Given the description of an element on the screen output the (x, y) to click on. 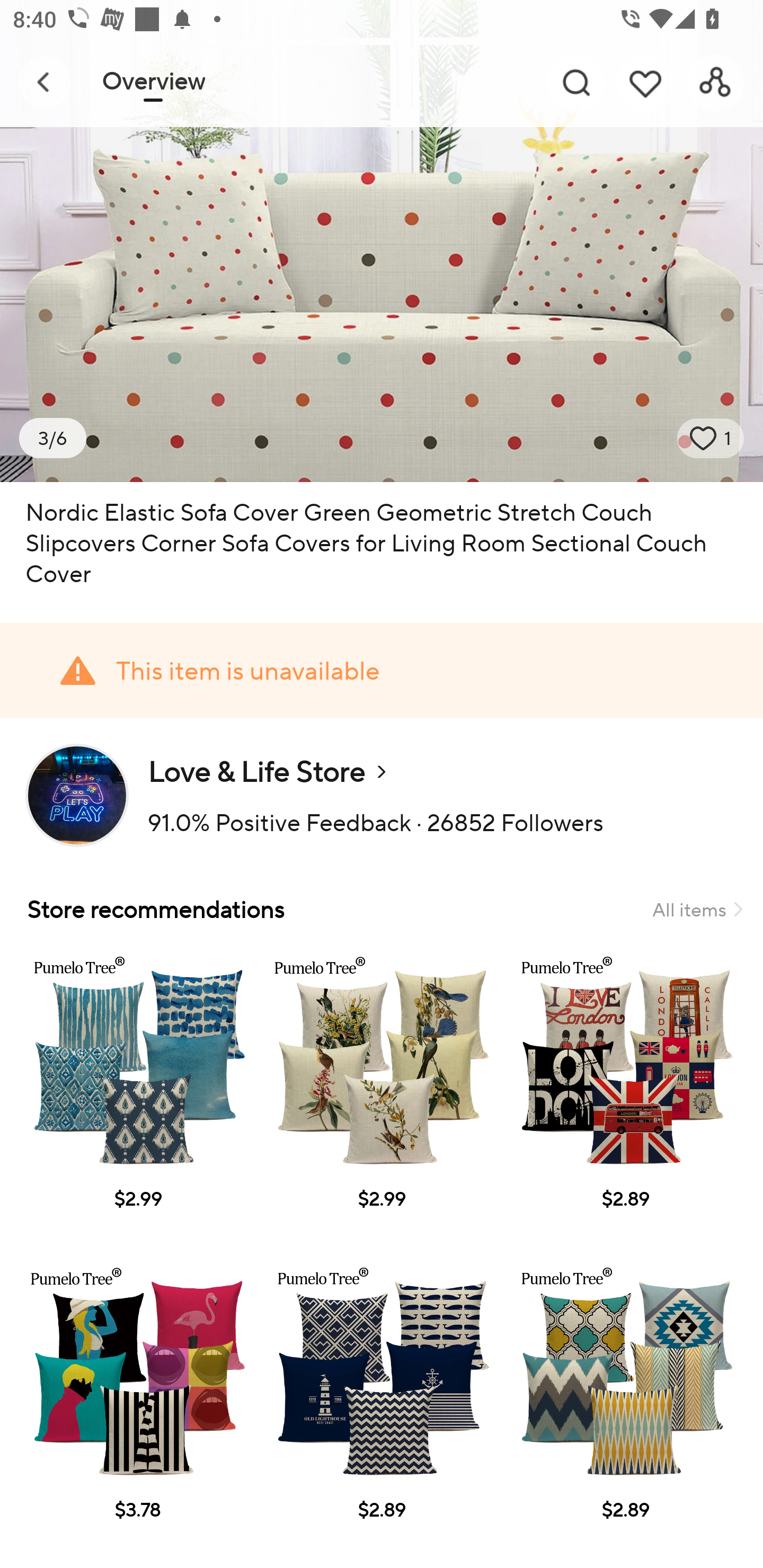
Navigate up (44, 82)
wish state 1 (710, 437)
All items (697, 909)
$2.99 (137, 1096)
$2.99 (381, 1096)
$2.89 (625, 1096)
$3.78 (137, 1407)
$2.89 (381, 1407)
$2.89 (625, 1407)
